Given the description of an element on the screen output the (x, y) to click on. 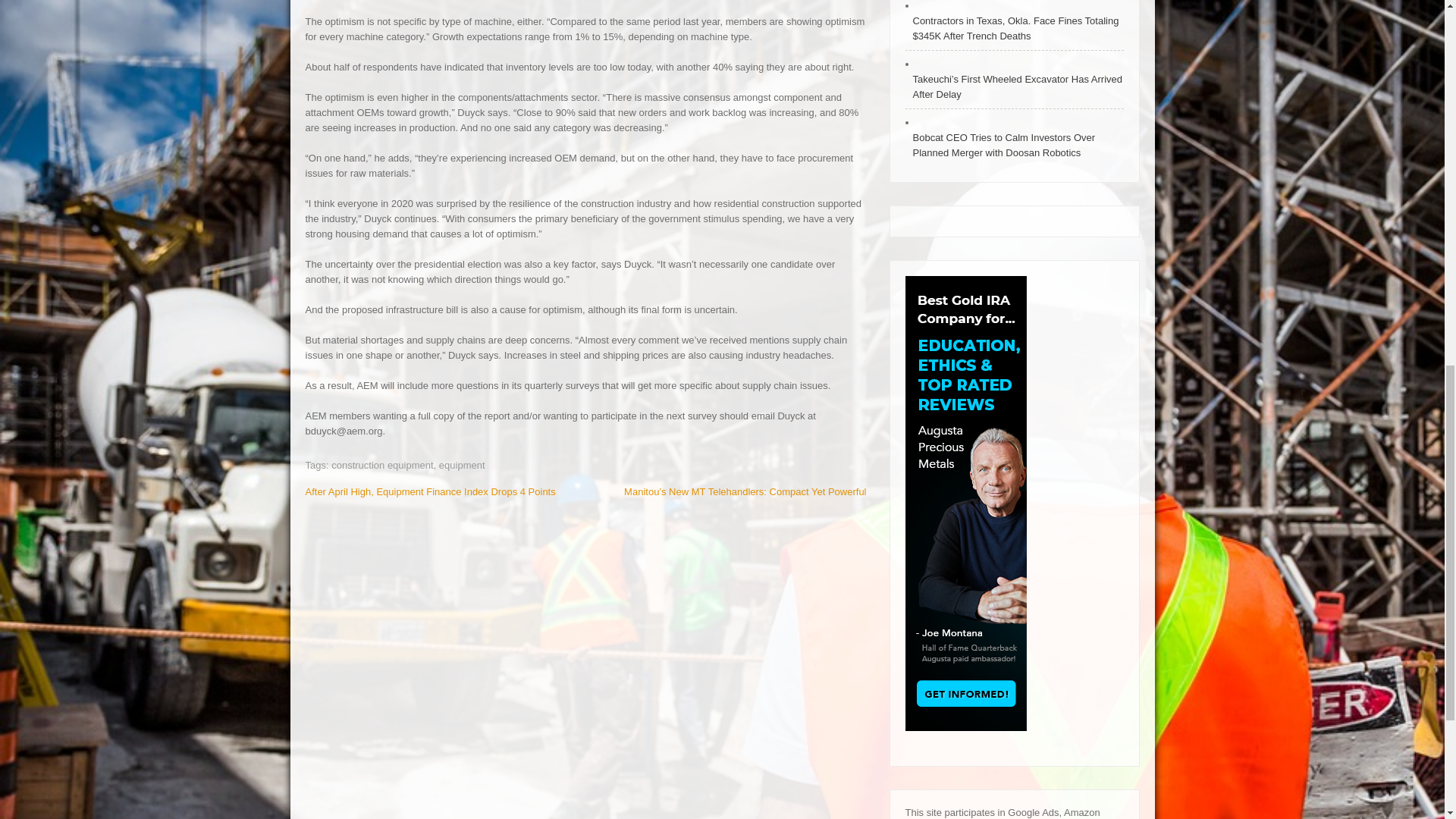
equipment (461, 464)
After April High, Equipment Finance Index Drops 4 Points (429, 491)
construction equipment (381, 464)
